Given the description of an element on the screen output the (x, y) to click on. 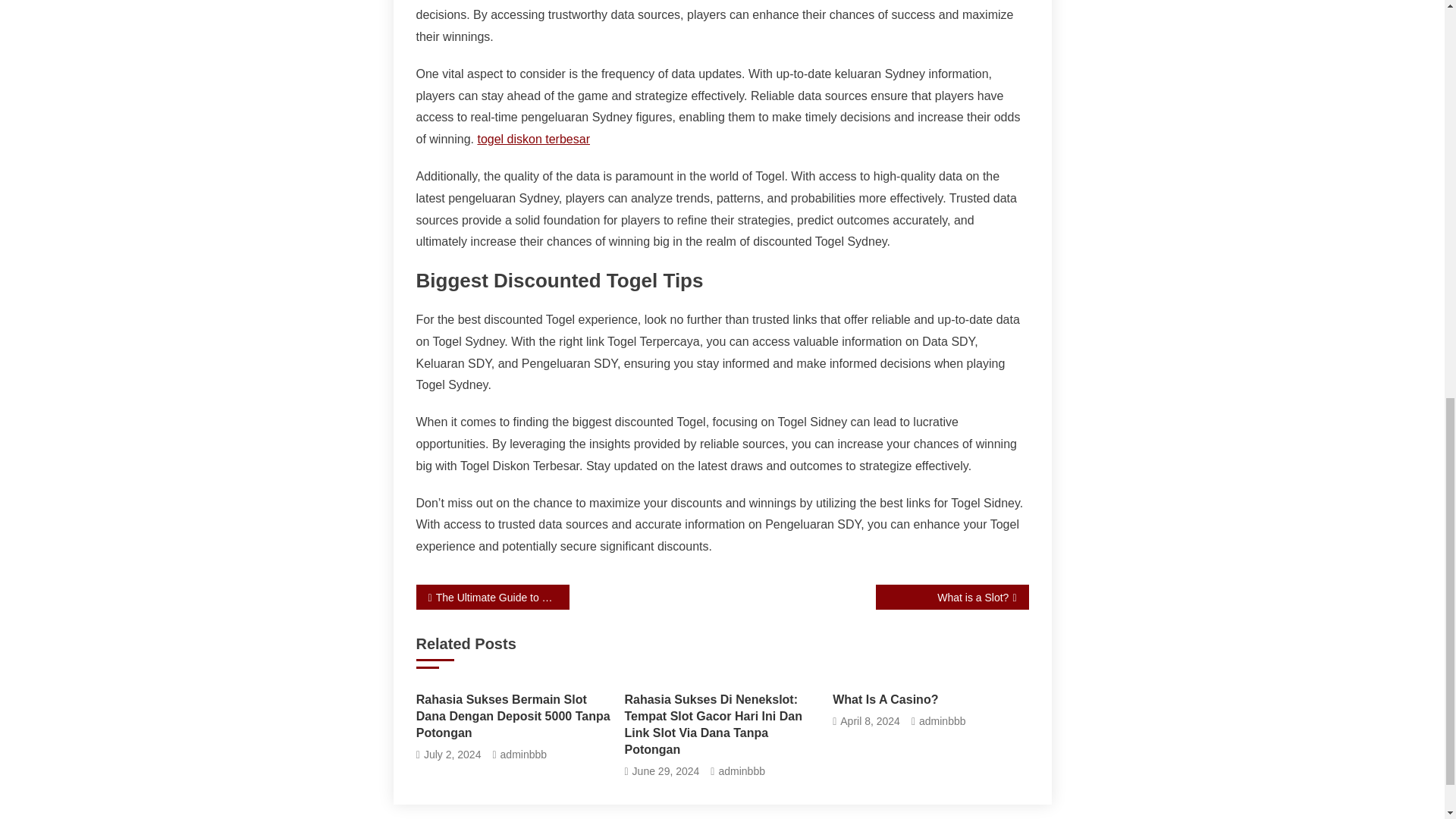
The Ultimate Guide to Togel: Play, Win, and Stay Safe Online (491, 596)
adminbbb (741, 771)
April 8, 2024 (869, 721)
togel diskon terbesar (533, 138)
July 2, 2024 (452, 754)
adminbbb (942, 721)
June 29, 2024 (665, 771)
What Is A Casino? (929, 699)
adminbbb (523, 754)
What is a Slot? (951, 596)
